Given the description of an element on the screen output the (x, y) to click on. 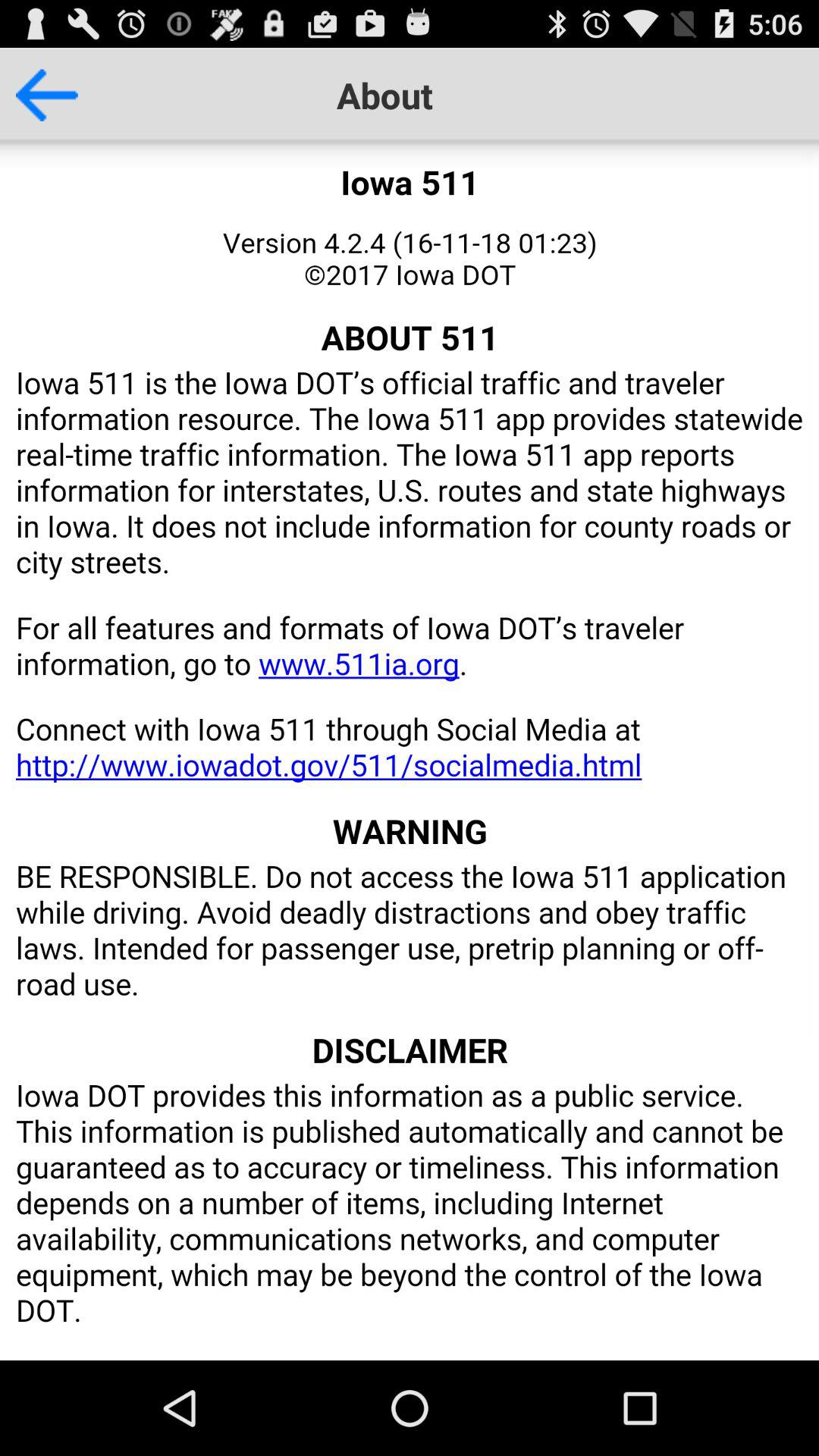
backword option (38, 95)
